Given the description of an element on the screen output the (x, y) to click on. 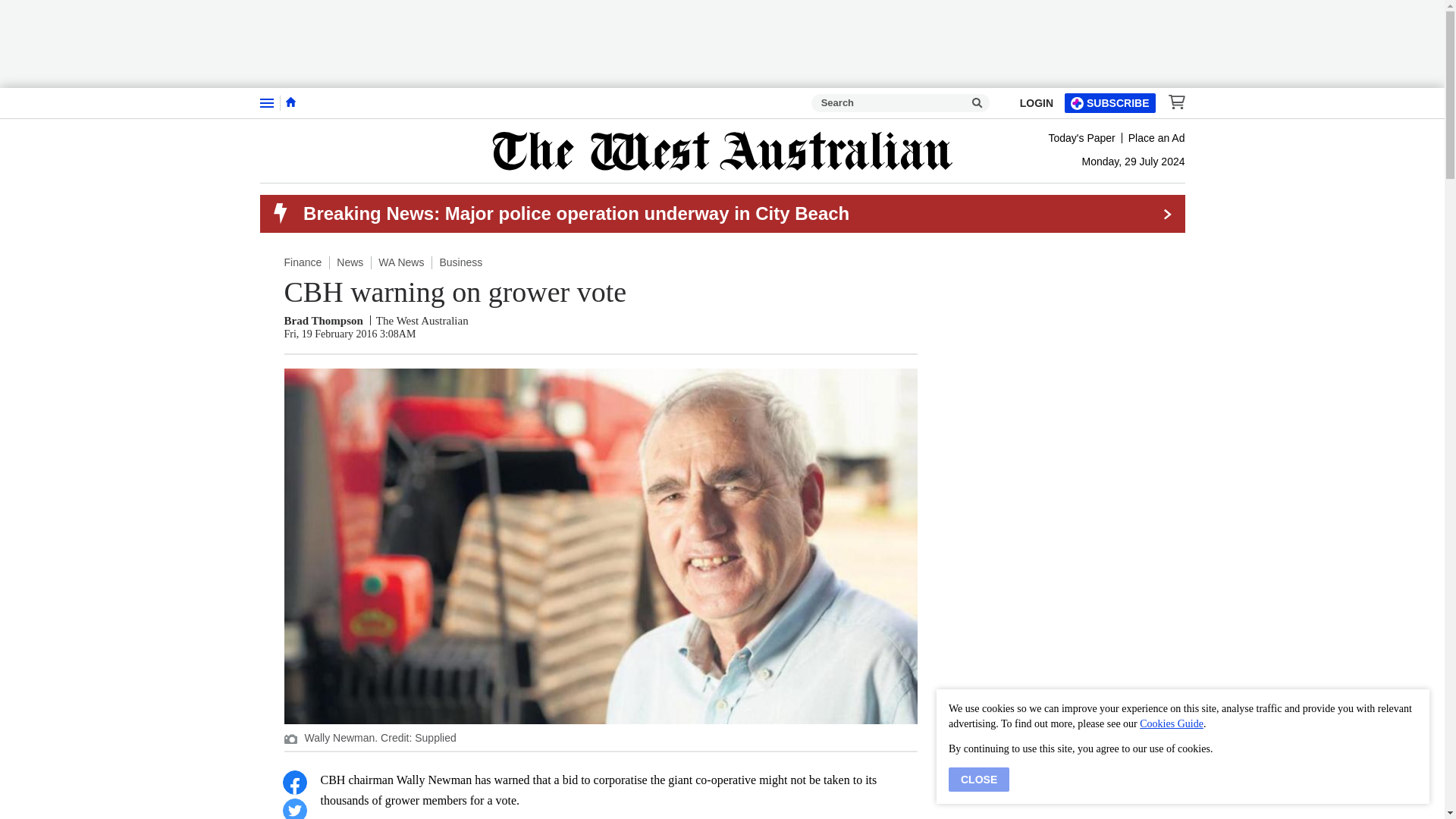
Home (290, 102)
Please enter a search term. (977, 102)
Empty Cart Icon (1172, 102)
